Given the description of an element on the screen output the (x, y) to click on. 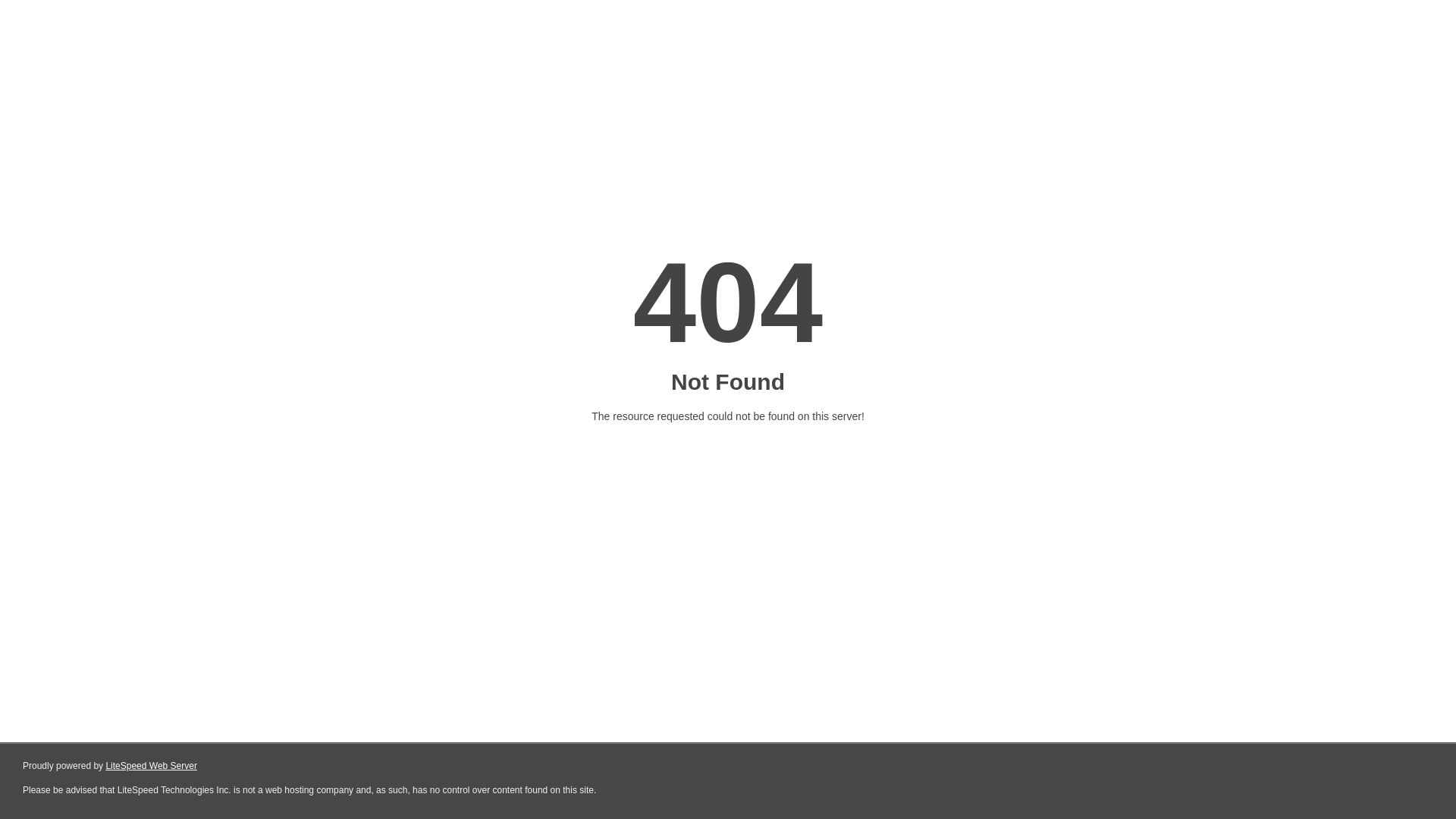
LiteSpeed Web Server Element type: text (151, 765)
